Given the description of an element on the screen output the (x, y) to click on. 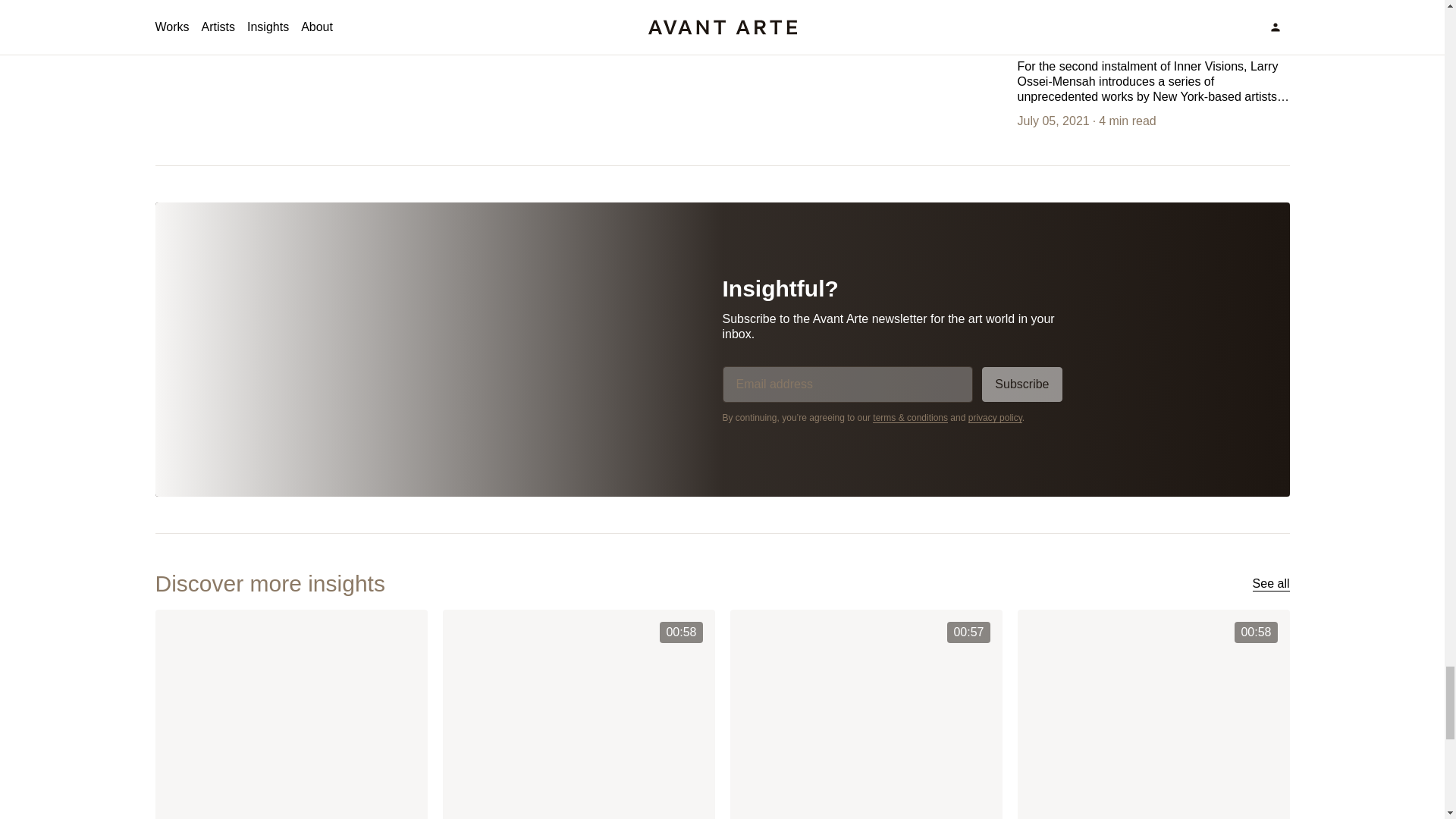
See all (1271, 583)
George Condo standing in front of a mural (865, 714)
Gregory Crewdson photographed in the street  (1153, 714)
Avant Essay, Barbie Pink (290, 714)
Black and white photo of Georgia O'Keefe (578, 714)
Subscribe (1021, 384)
